Given the description of an element on the screen output the (x, y) to click on. 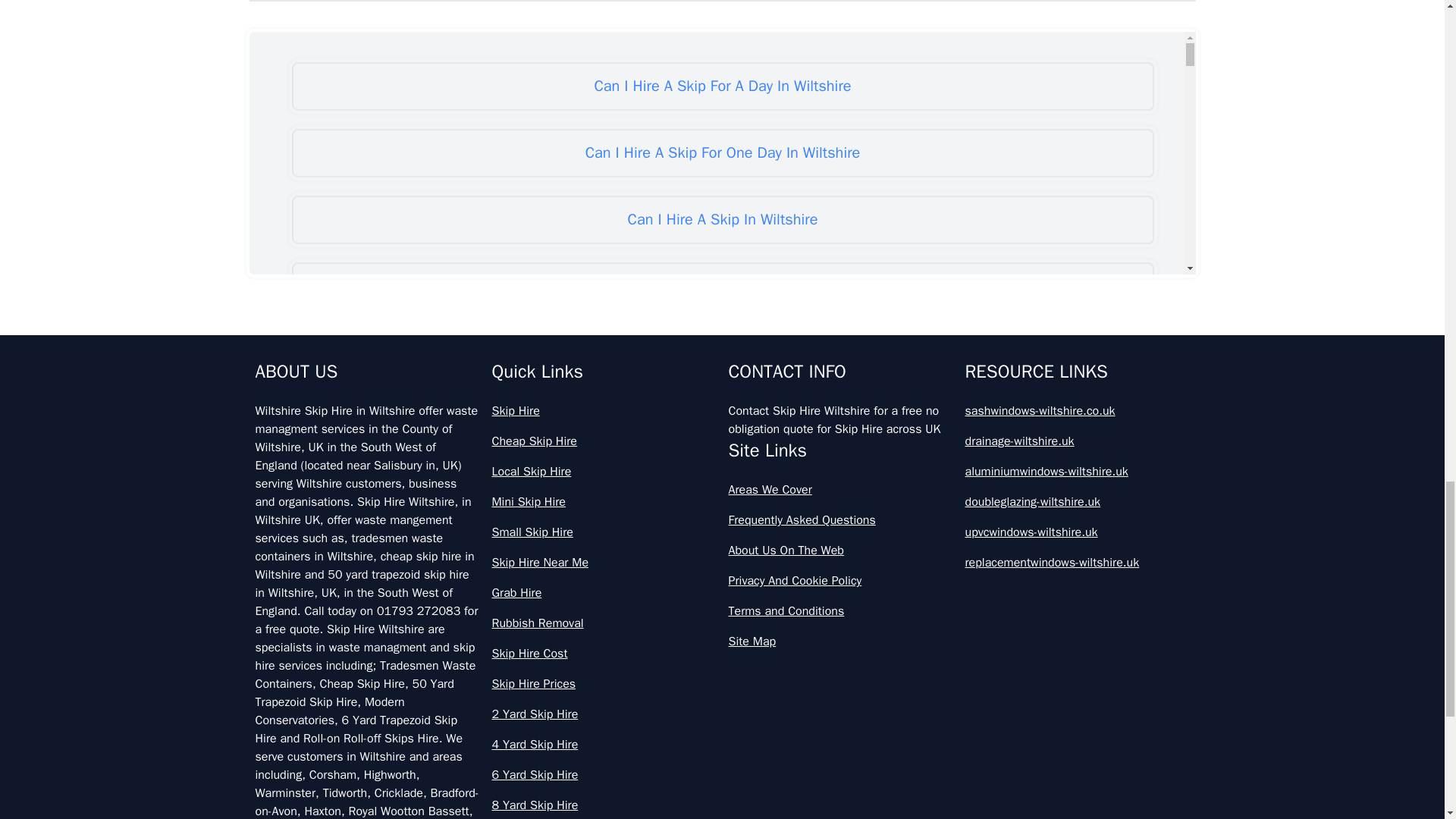
Can You Hire A Skip For One Day In Wiltshire (722, 486)
replacementwindows-wiltshire.uk (1076, 562)
Can I Hire A Skip For One Day In Wiltshire (722, 152)
Site Map (840, 641)
Do I Need A Permit To Hire A Skip In Wiltshire (722, 753)
Can I Hire A Skip For A Day In Wiltshire (722, 86)
Can You Put Anything In A Hired Skip In Wiltshire (722, 686)
doubleglazing-wiltshire.uk (1076, 502)
Can You Hire A Skip In Wiltshire (722, 553)
Can You Hire Skips In Wiltshire (722, 620)
Do Skip Hire Companies Recycle In Wiltshire (722, 807)
Can I Hire A Skip In Wiltshire (722, 219)
sashwindows-wiltshire.co.uk (1076, 411)
aluminiumwindows-wiltshire.uk (1076, 471)
upvcwindows-wiltshire.uk (1076, 532)
